Given the description of an element on the screen output the (x, y) to click on. 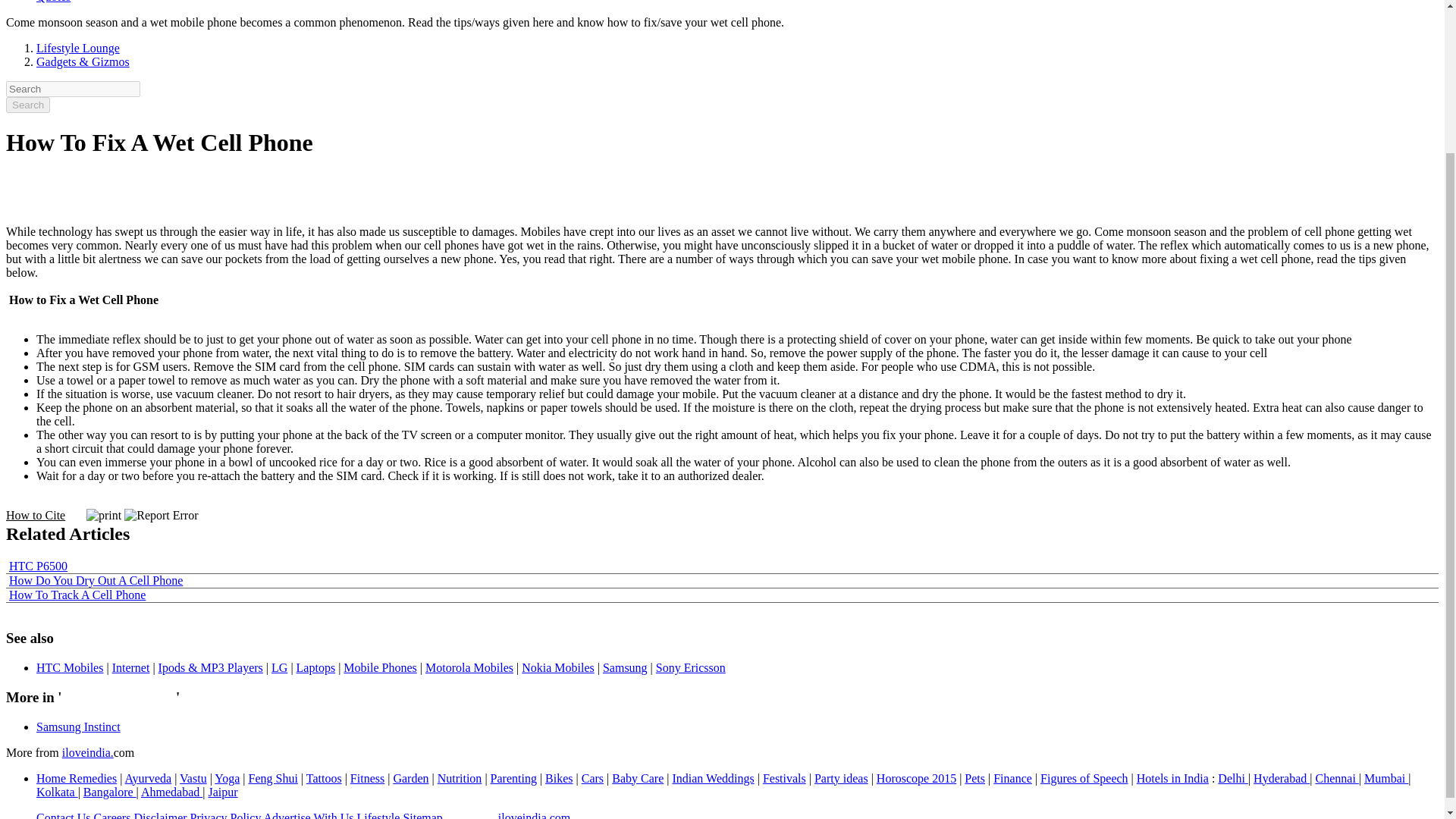
HTC Mobiles (69, 667)
Motorola Mobiles (469, 667)
Lifestyle Lounge (77, 47)
Internet (130, 667)
How Do You Dry Out A Cell Phone (95, 580)
How To Track A Cell Phone (76, 594)
Sony Ericsson (690, 667)
Search (27, 105)
LG (278, 667)
Samsung (624, 667)
Laptops (316, 667)
Quotes (52, 1)
Mobile Phones (379, 667)
Nokia Mobiles (557, 667)
HTC P6500 (37, 565)
